Given the description of an element on the screen output the (x, y) to click on. 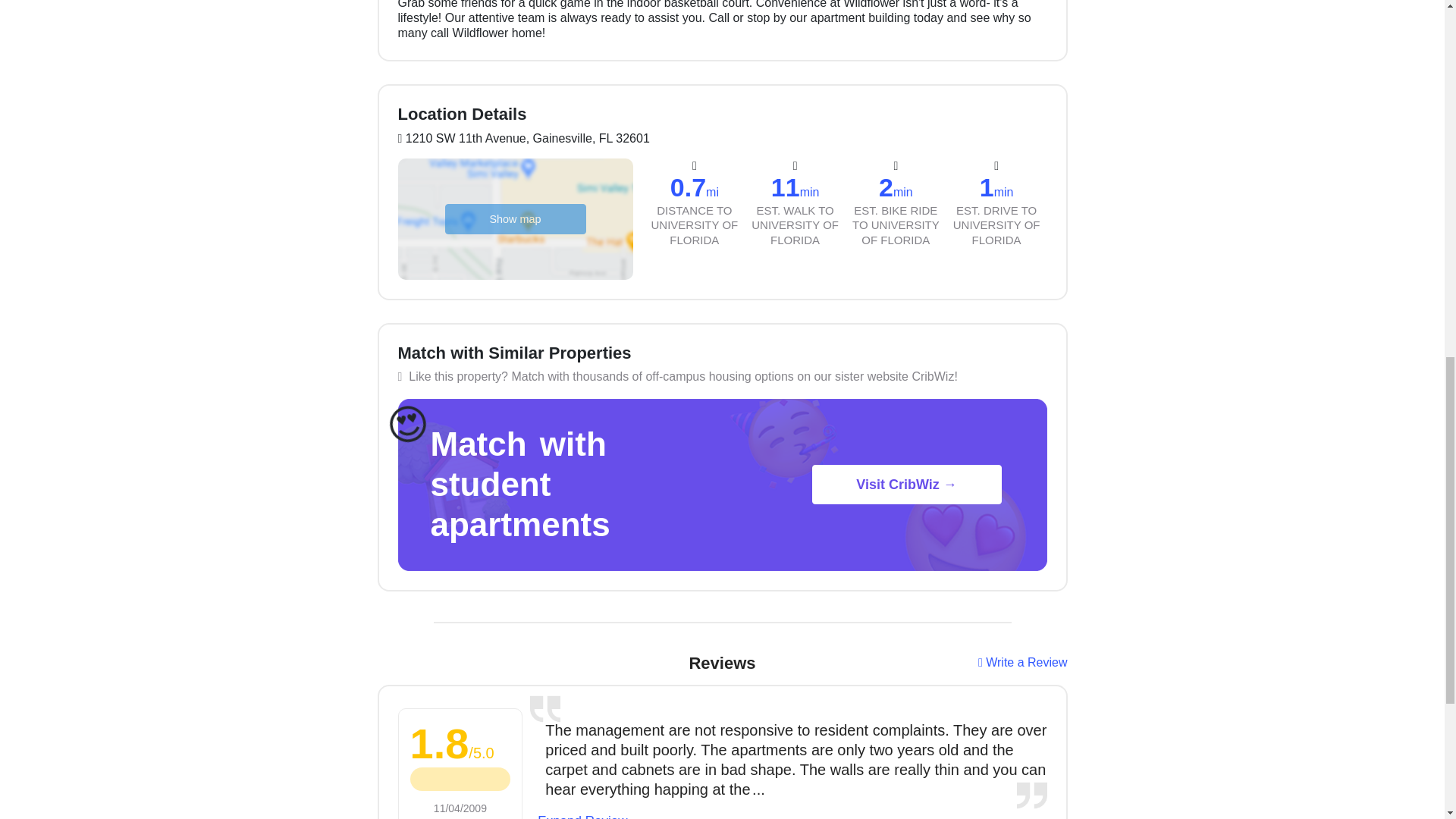
Expand Review (582, 816)
Show map (514, 218)
